Given the description of an element on the screen output the (x, y) to click on. 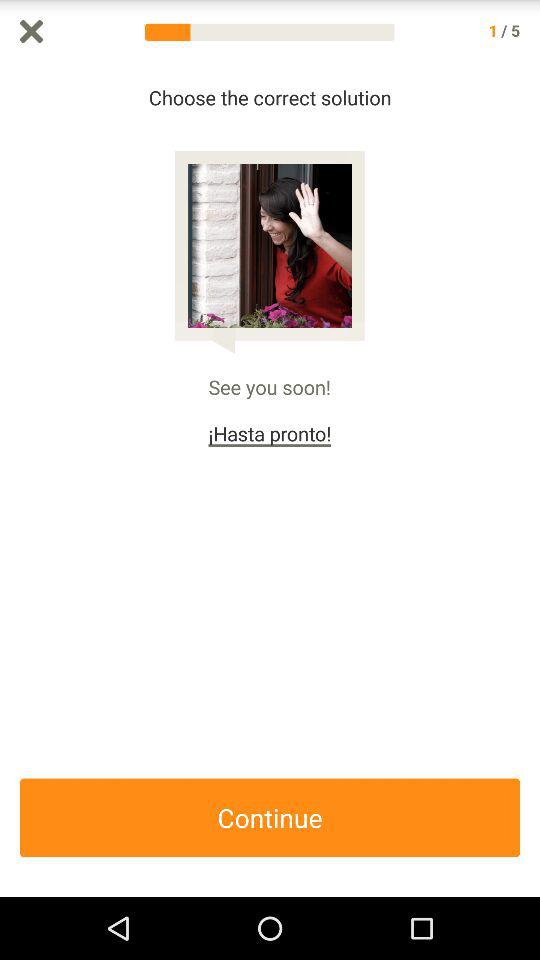
tap icon at the top left corner (31, 31)
